Given the description of an element on the screen output the (x, y) to click on. 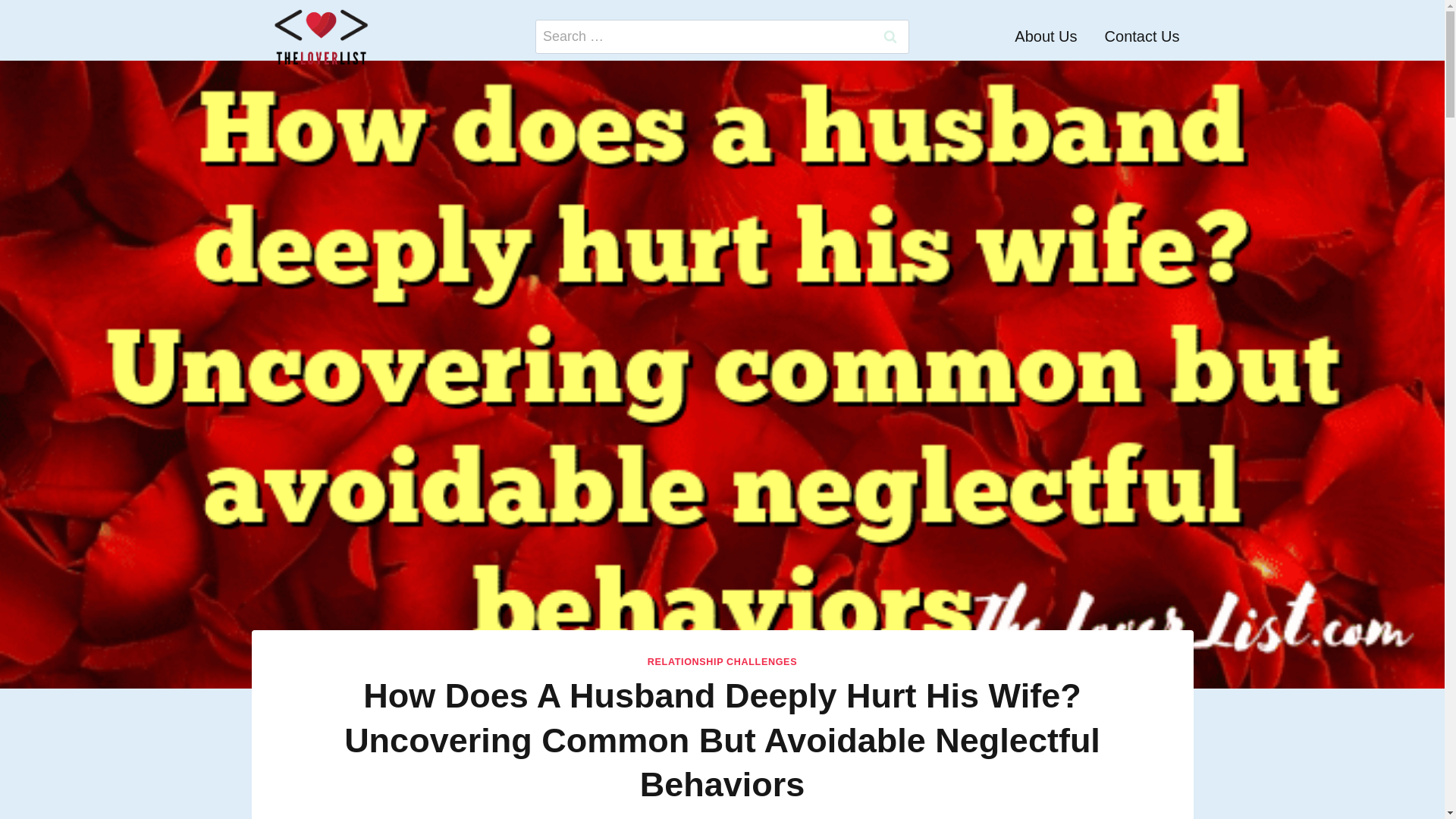
Search (889, 36)
About Us (1045, 36)
Contact Us (1141, 36)
Search (889, 36)
Search (889, 36)
RELATIONSHIP CHALLENGES (721, 661)
